Given the description of an element on the screen output the (x, y) to click on. 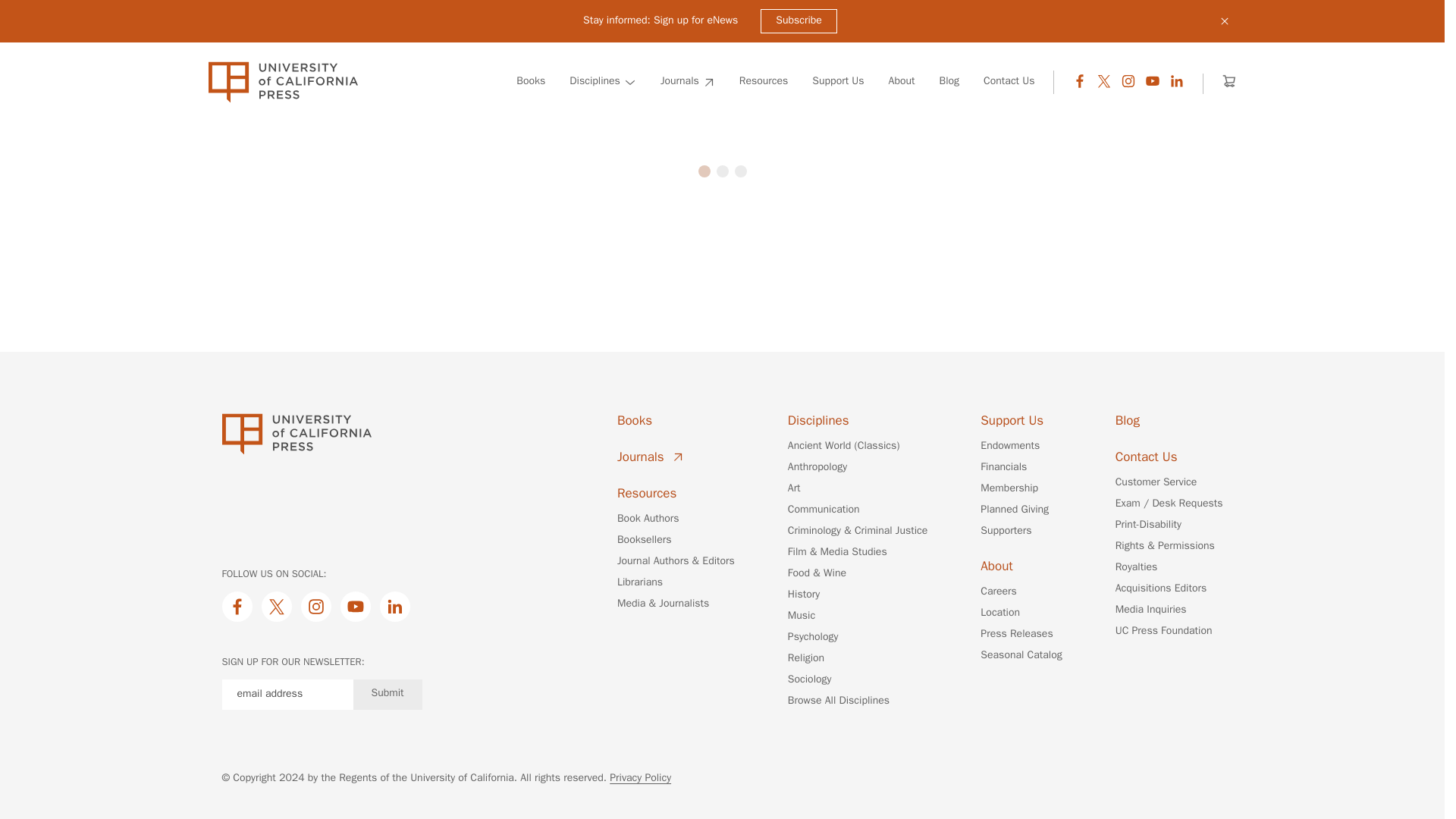
Resources (764, 82)
Subscribe (798, 21)
Books (530, 82)
Dismiss (1223, 21)
Disciplines (602, 82)
University of California Press (282, 82)
